Given the description of an element on the screen output the (x, y) to click on. 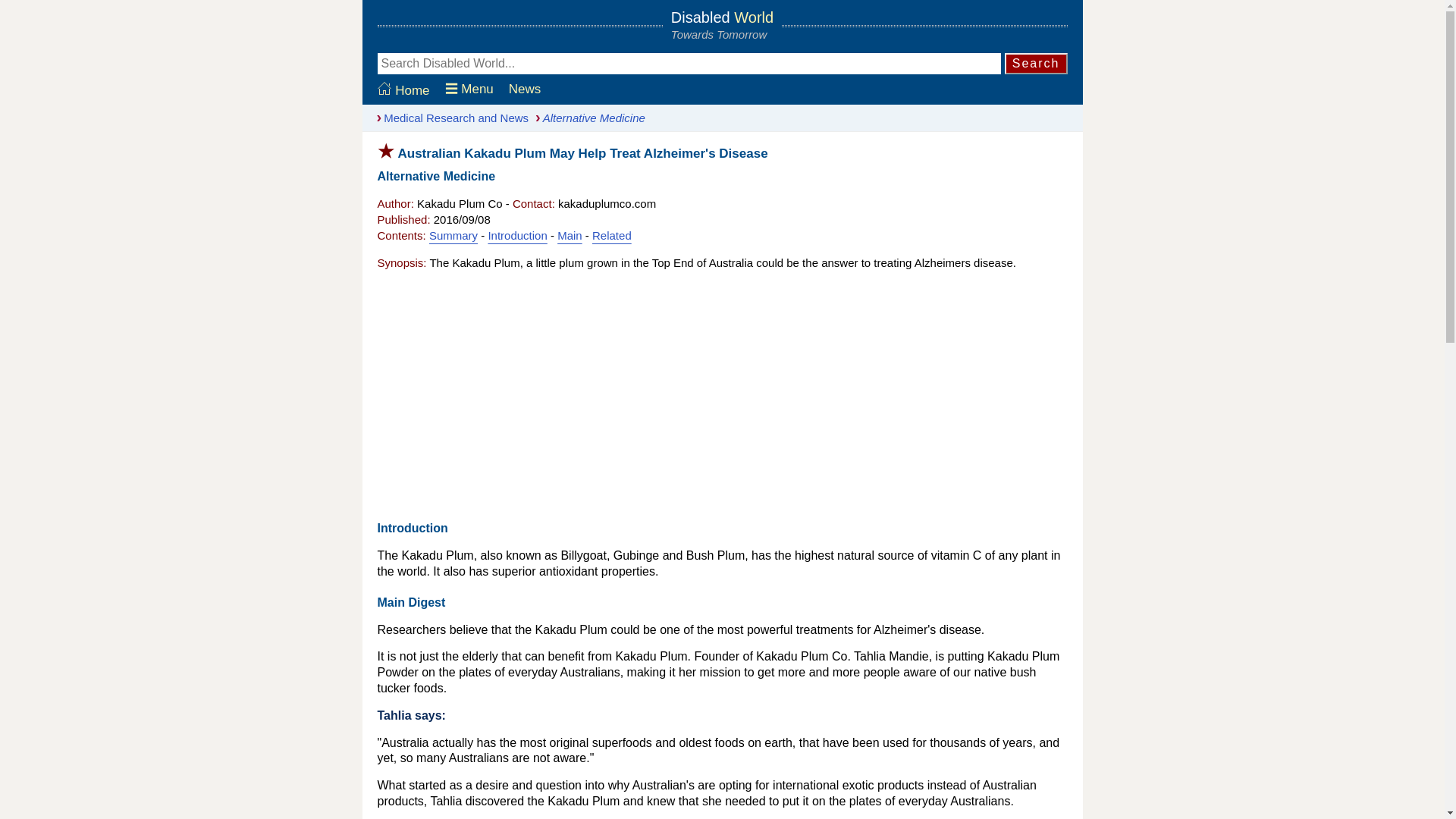
Alternative Medicine (586, 117)
Go to Alternative Medicine (586, 117)
Home (403, 90)
Introduction (517, 235)
News (524, 89)
Related (611, 235)
Medical Research and News (449, 117)
Summary (453, 235)
Main (569, 235)
Go to Medical Research and News (449, 117)
